Given the description of an element on the screen output the (x, y) to click on. 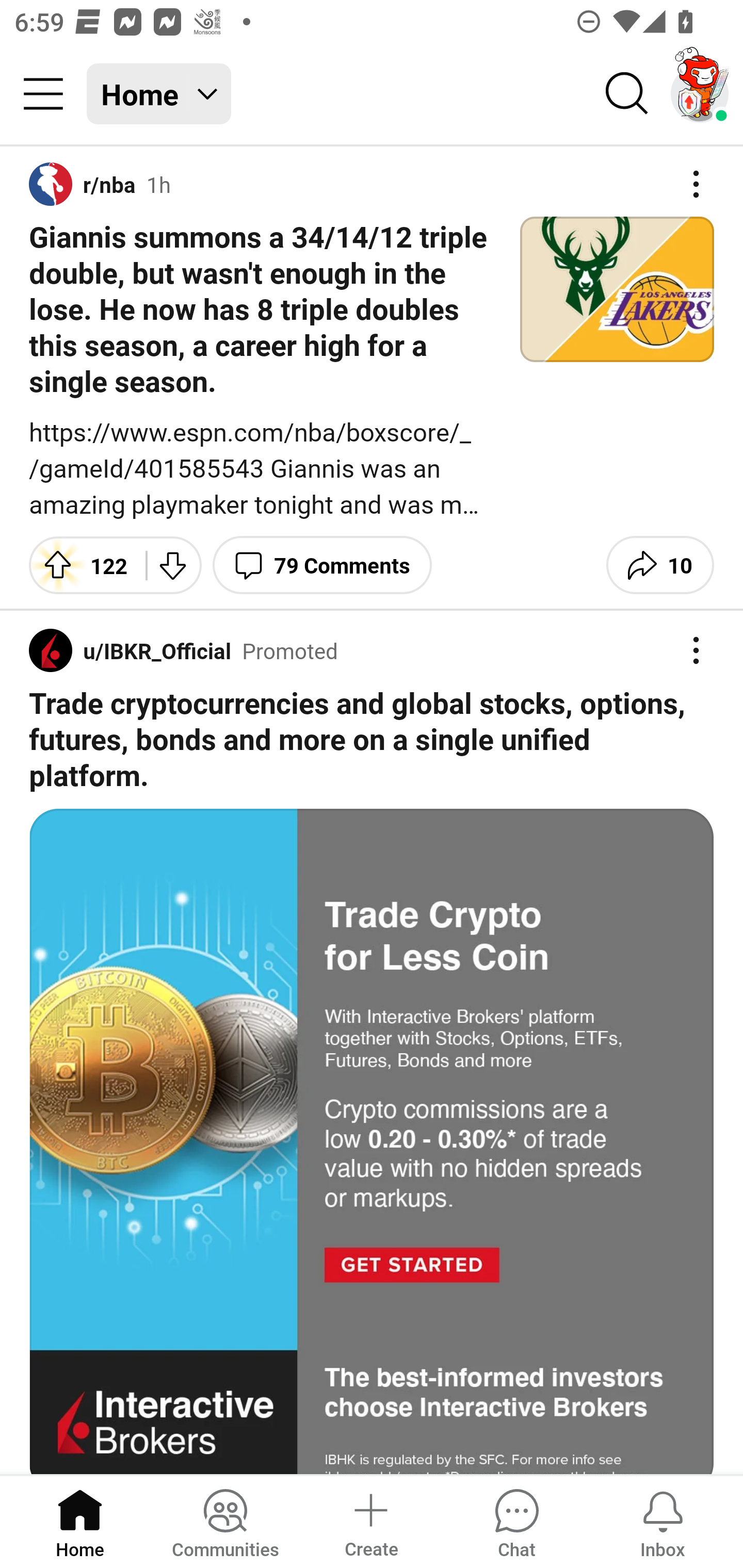
Community menu (43, 93)
Home Home feed (158, 93)
Search (626, 93)
TestAppium002 account (699, 93)
Home (80, 1520)
Communities (225, 1520)
Create a post Create (370, 1520)
Chat (516, 1520)
Inbox (662, 1520)
